Given the description of an element on the screen output the (x, y) to click on. 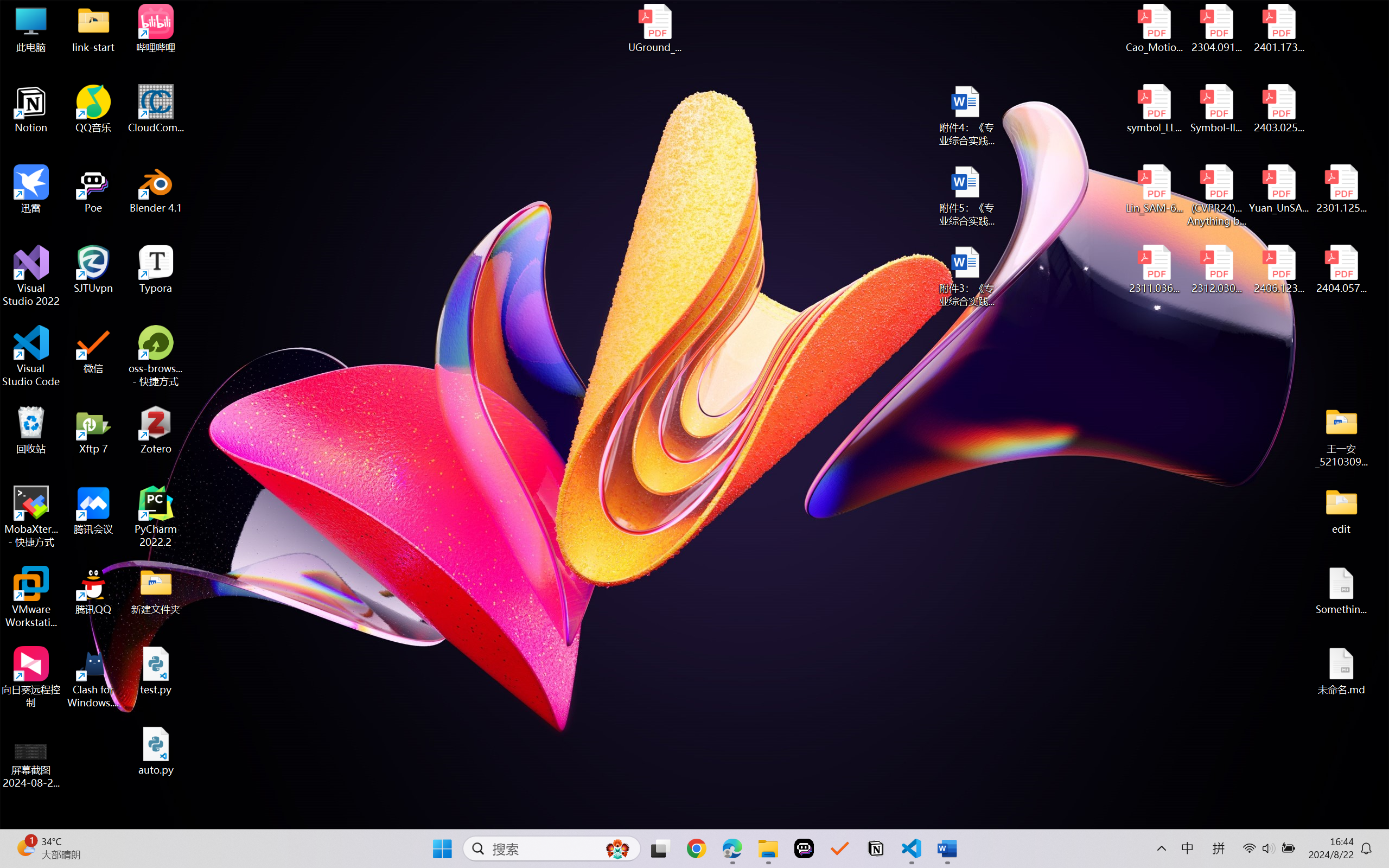
Xftp 7 (93, 430)
2401.17399v1.pdf (1278, 28)
Typora (156, 269)
Visual Studio 2022 (31, 276)
Something.md (1340, 591)
